Given the description of an element on the screen output the (x, y) to click on. 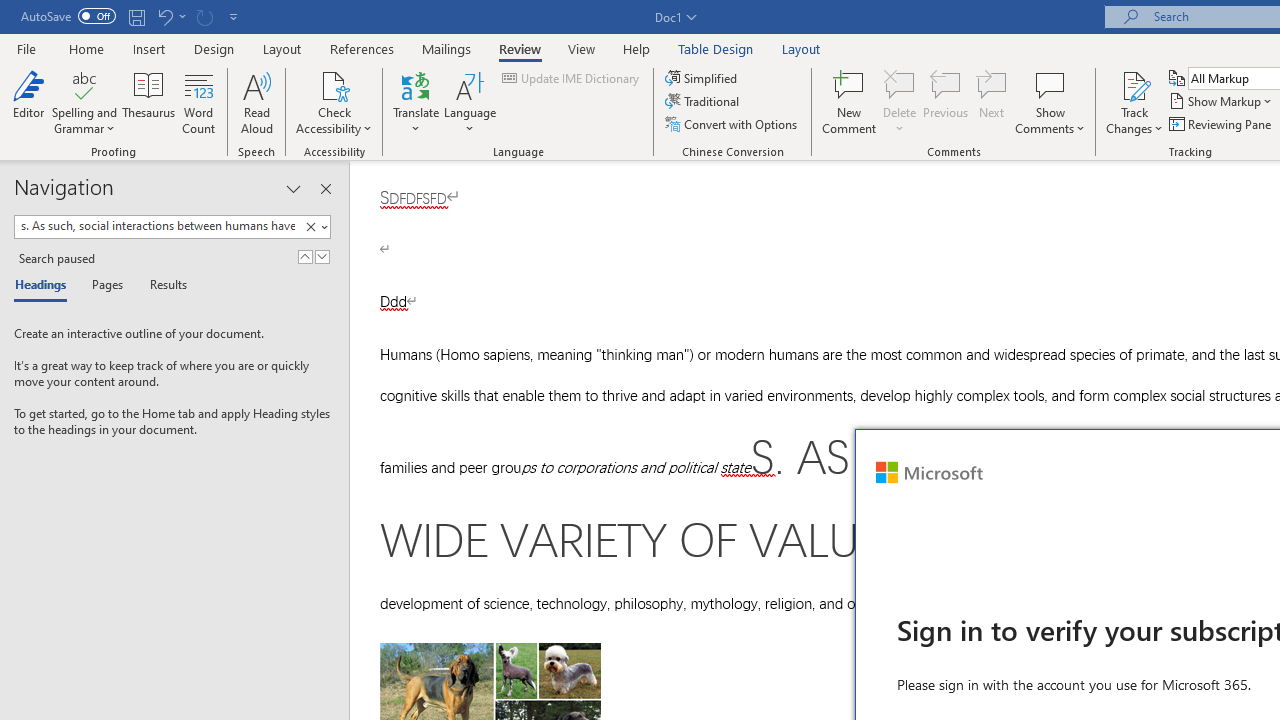
Undo Style (170, 15)
Delete (900, 102)
Track Changes (1134, 84)
Clear (314, 227)
Check Accessibility (334, 102)
Traditional (703, 101)
Language (470, 102)
Word Count (198, 102)
